Given the description of an element on the screen output the (x, y) to click on. 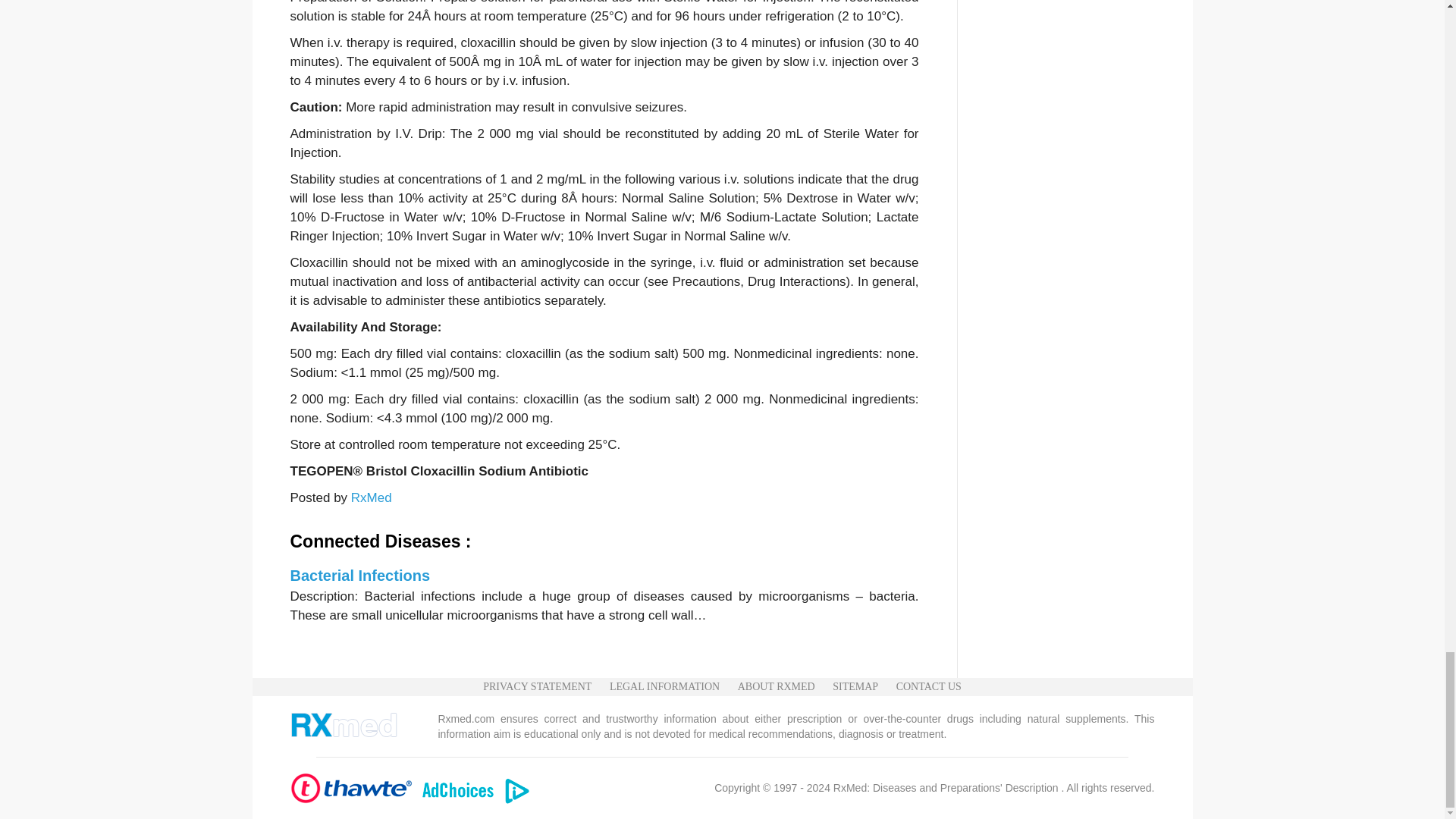
SITEMAP (855, 687)
RxMed (370, 497)
PRIVACY STATEMENT (537, 687)
ABOUT RXMED (776, 687)
Bacterial Infections (359, 575)
Posts by RxMed (370, 497)
LEGAL INFORMATION (664, 687)
Bacterial Infections (359, 575)
CONTACT US (928, 687)
